Given the description of an element on the screen output the (x, y) to click on. 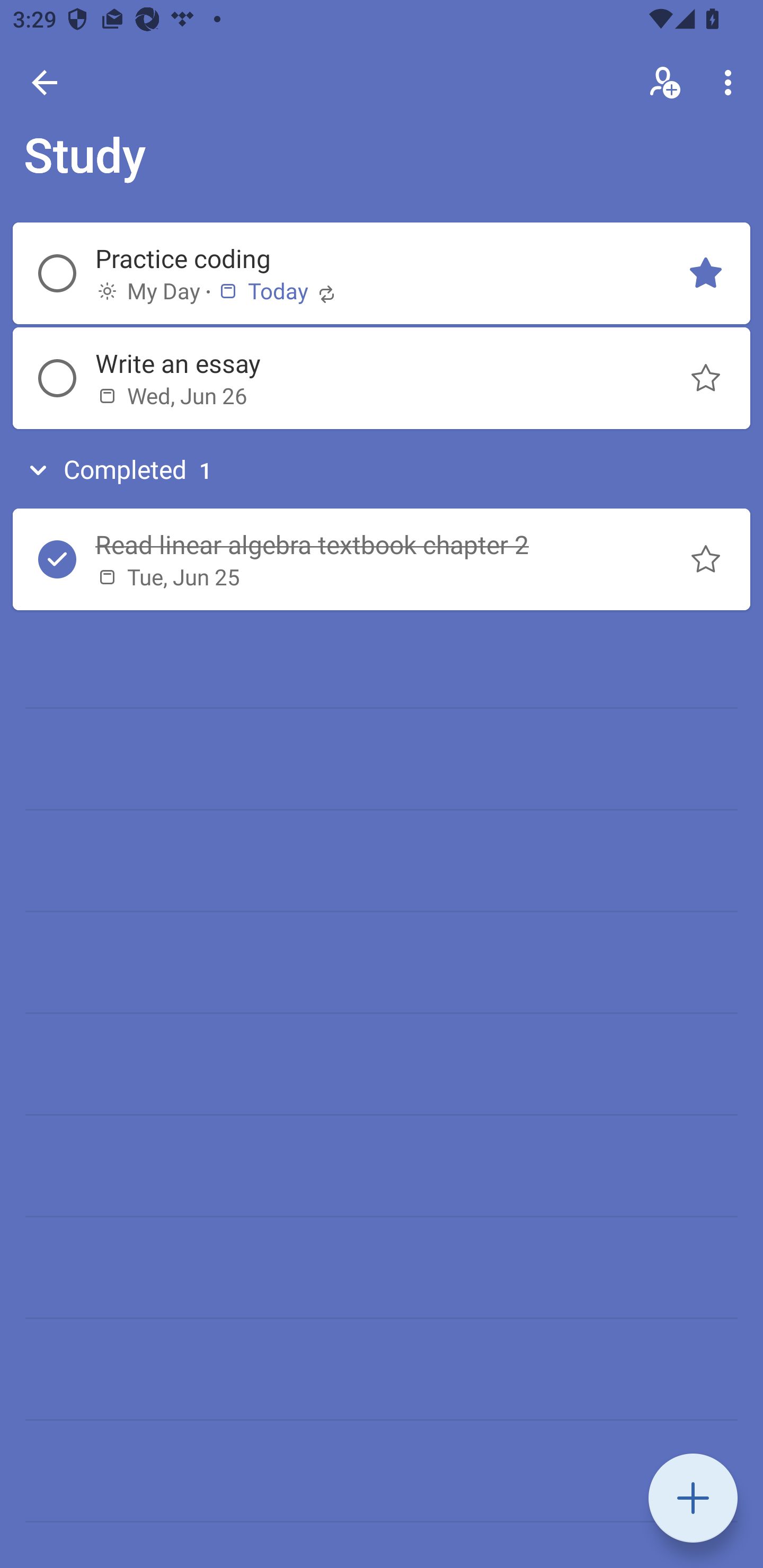
Back (44, 82)
